Given the description of an element on the screen output the (x, y) to click on. 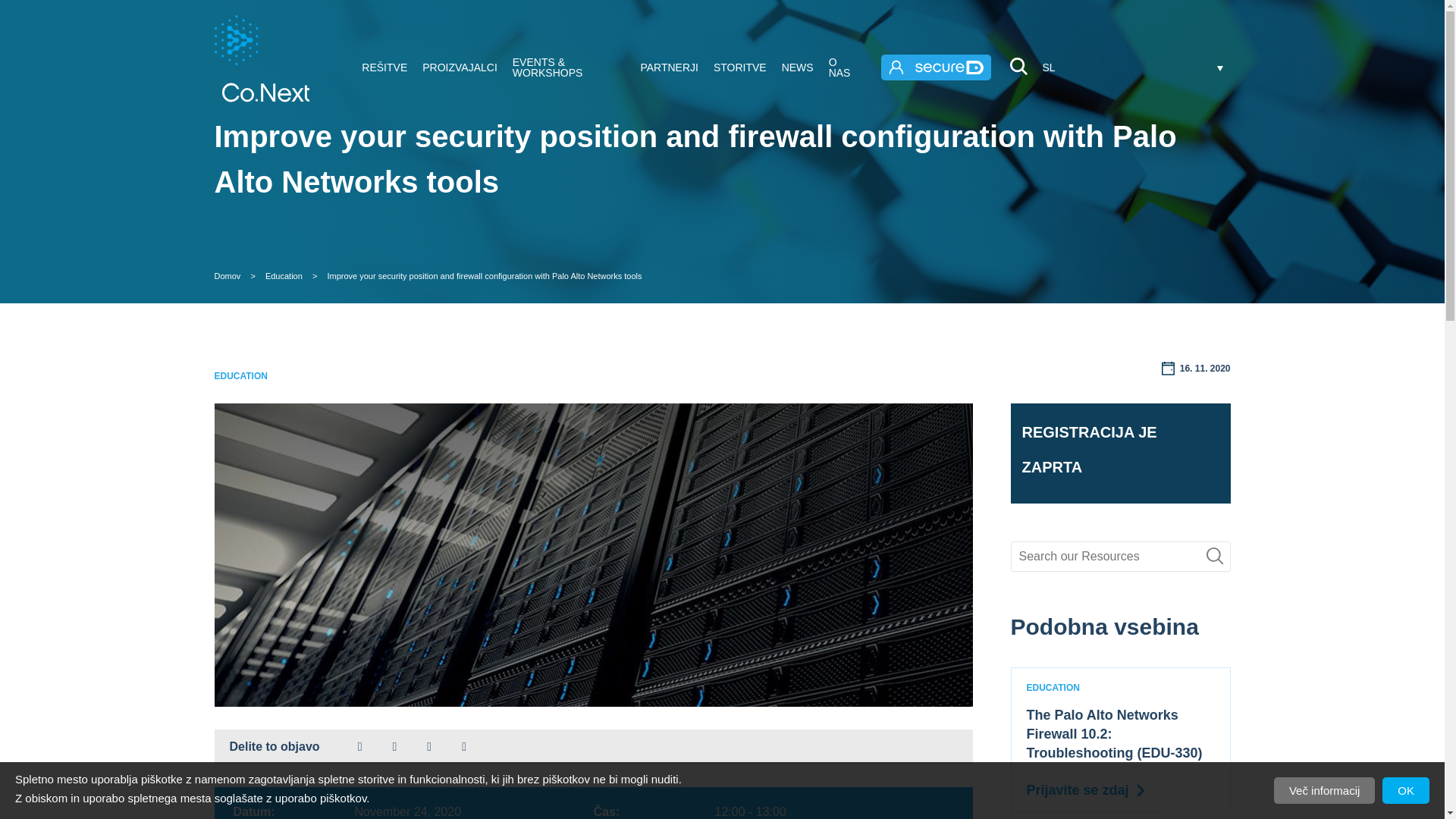
STORITVE (740, 67)
PARTNERJI (669, 67)
O NAS (843, 67)
PROIZVAJALCI (459, 67)
SL (1136, 66)
NEWS (797, 67)
